Given the description of an element on the screen output the (x, y) to click on. 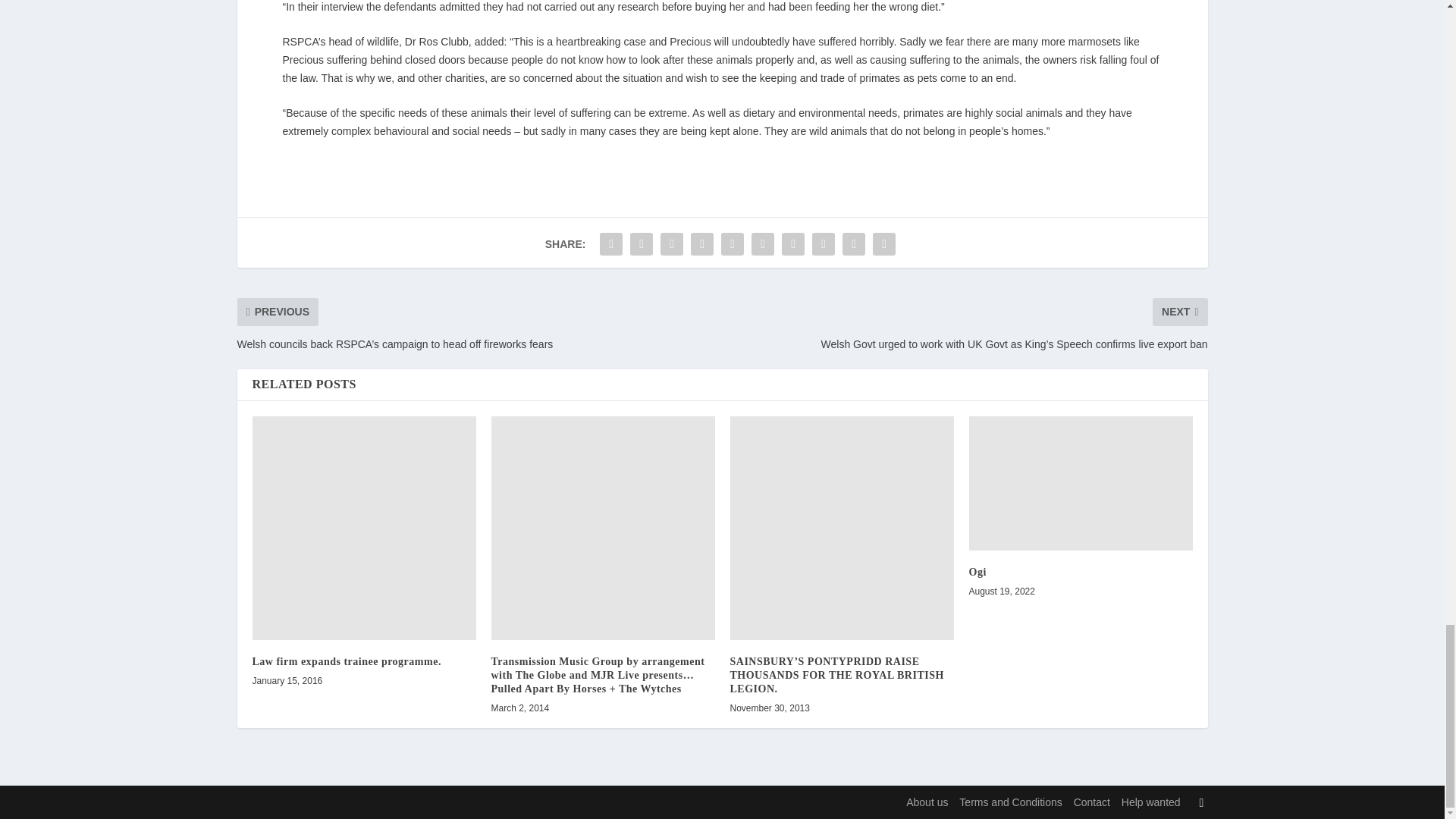
Law firm expands trainee programme. (363, 527)
Ogi (1080, 483)
